Given the description of an element on the screen output the (x, y) to click on. 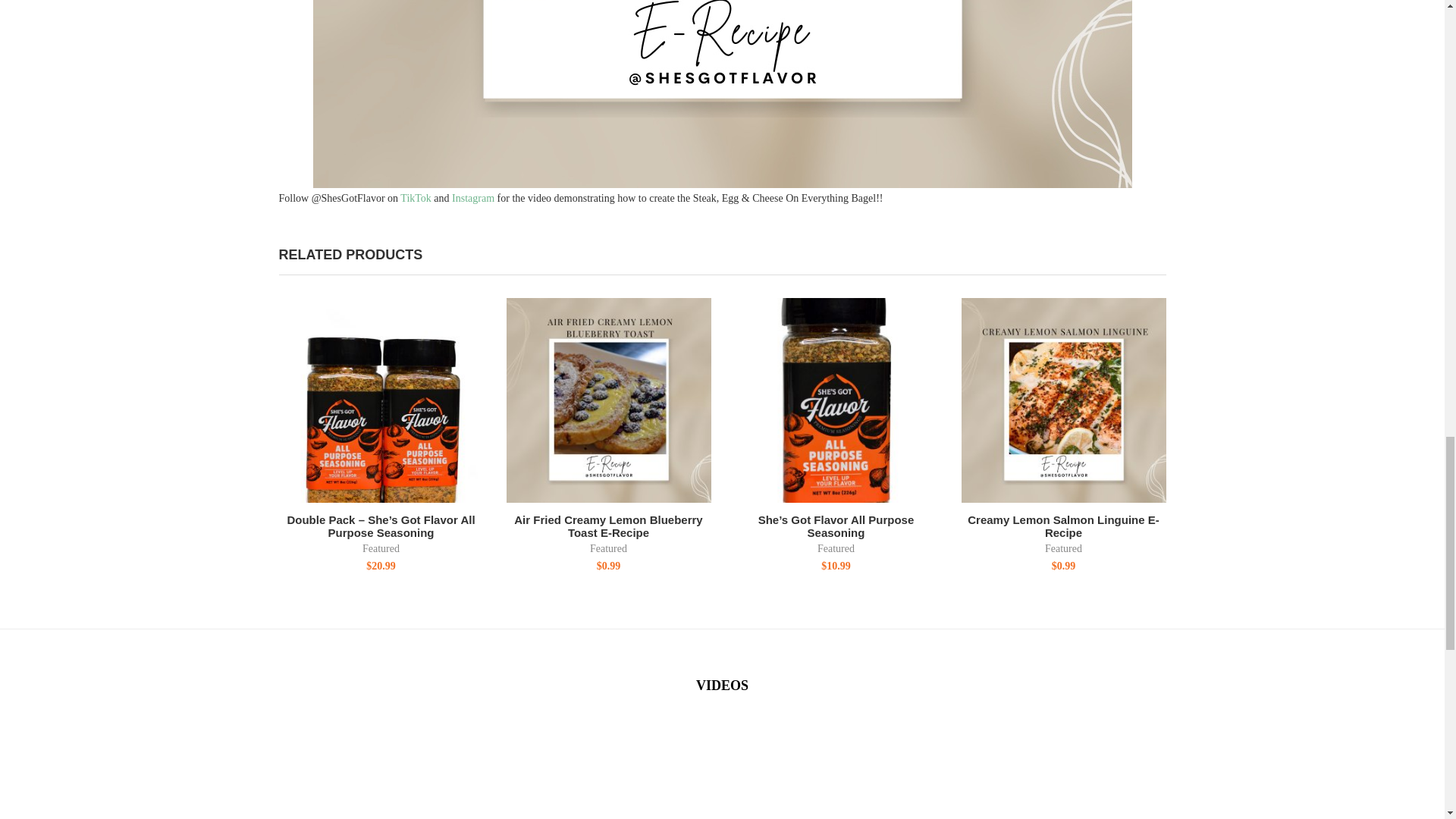
Air Fried Creamy Lemon Blueberry Toast E-Recipe (608, 400)
Creamy Lemon Salmon Linguine E-Recipe (1063, 400)
YouTube player (722, 769)
YouTube player (1028, 769)
YouTube player (416, 769)
